Given the description of an element on the screen output the (x, y) to click on. 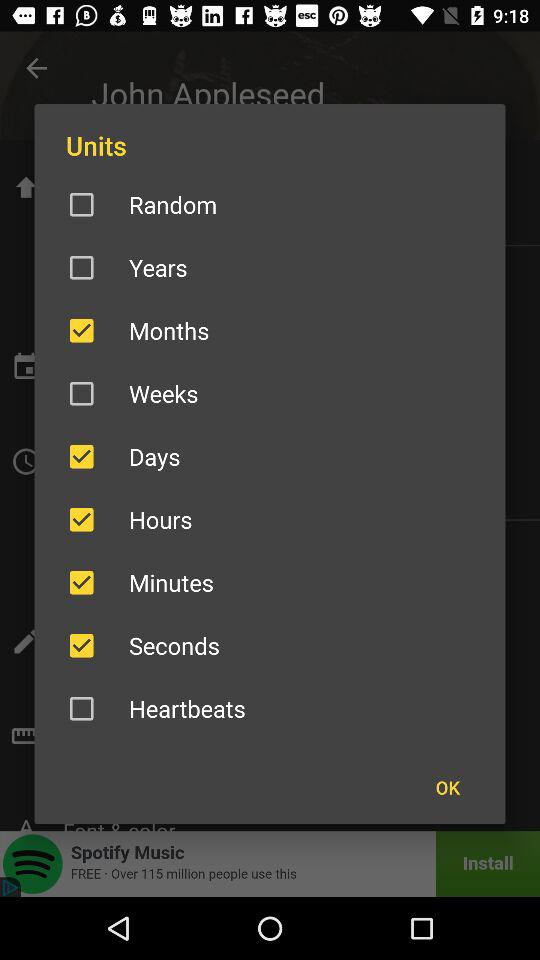
flip until the ok (447, 787)
